Given the description of an element on the screen output the (x, y) to click on. 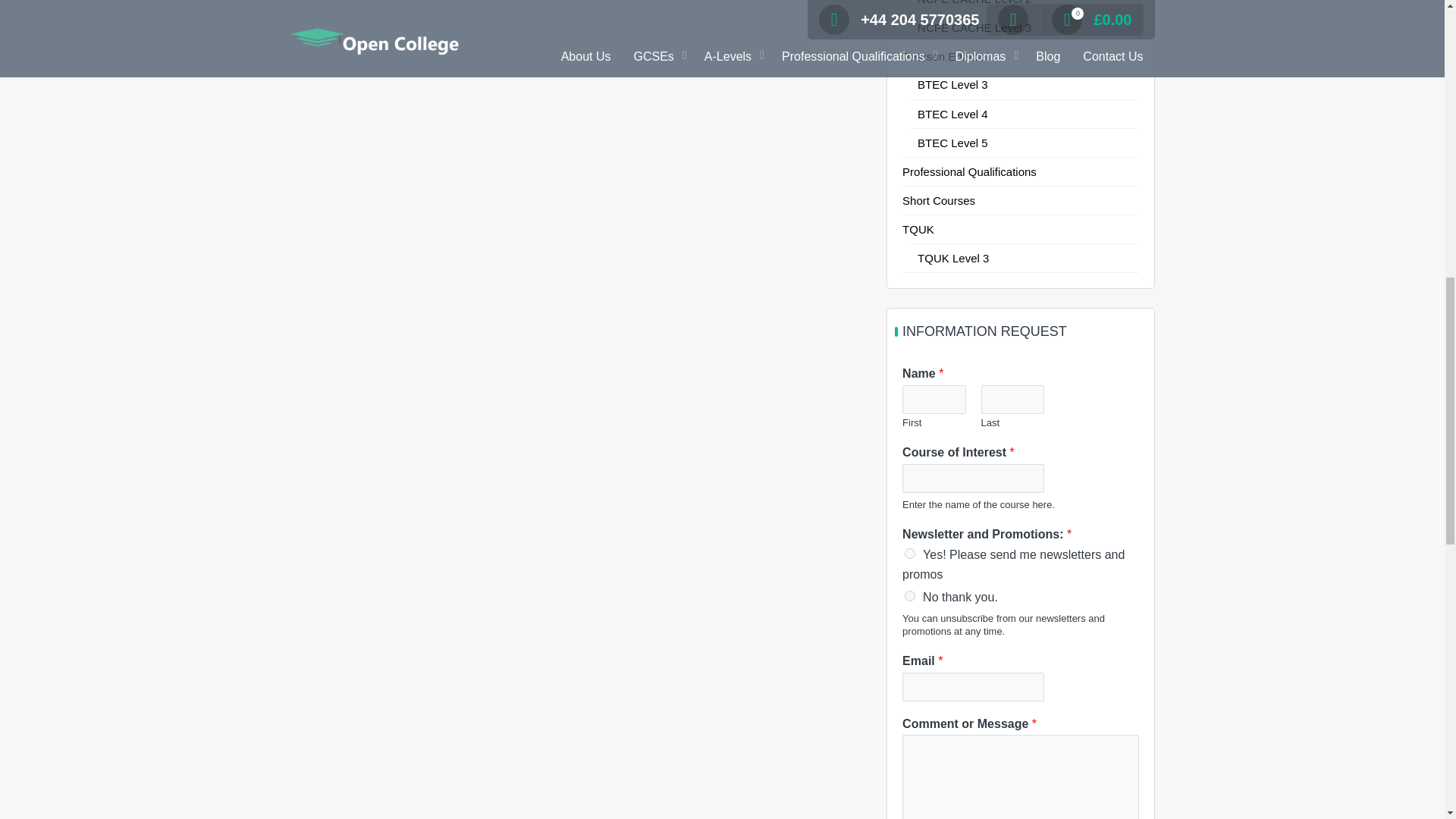
No thank you. (909, 595)
Yes! Please send me newsletters and promos (909, 552)
